Given the description of an element on the screen output the (x, y) to click on. 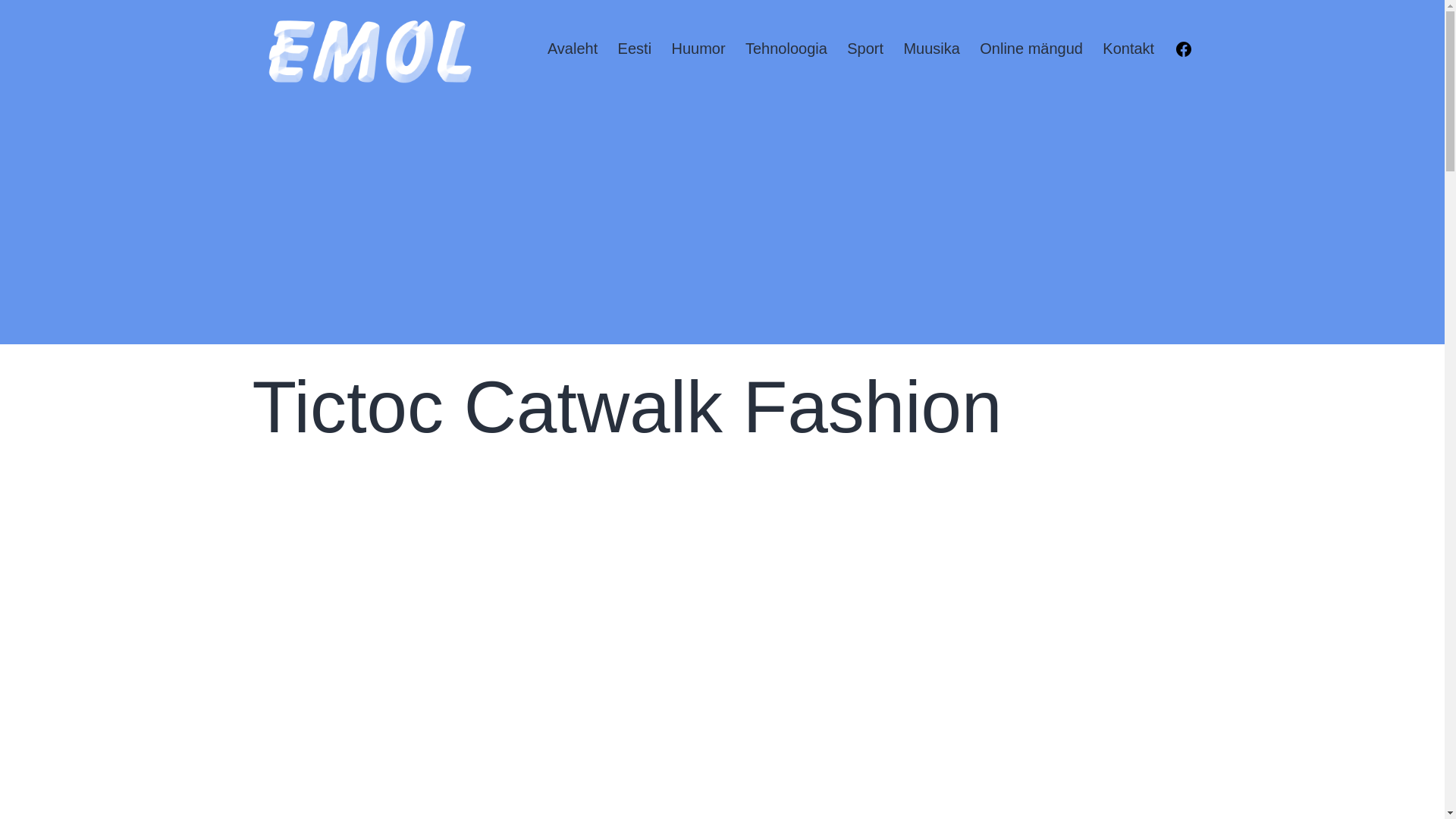
Eesti (634, 50)
Muusika (931, 50)
Huumor (698, 50)
Kontakt (1128, 50)
Sport (865, 50)
Avaleht (572, 50)
Tehnoloogia (786, 50)
